Given the description of an element on the screen output the (x, y) to click on. 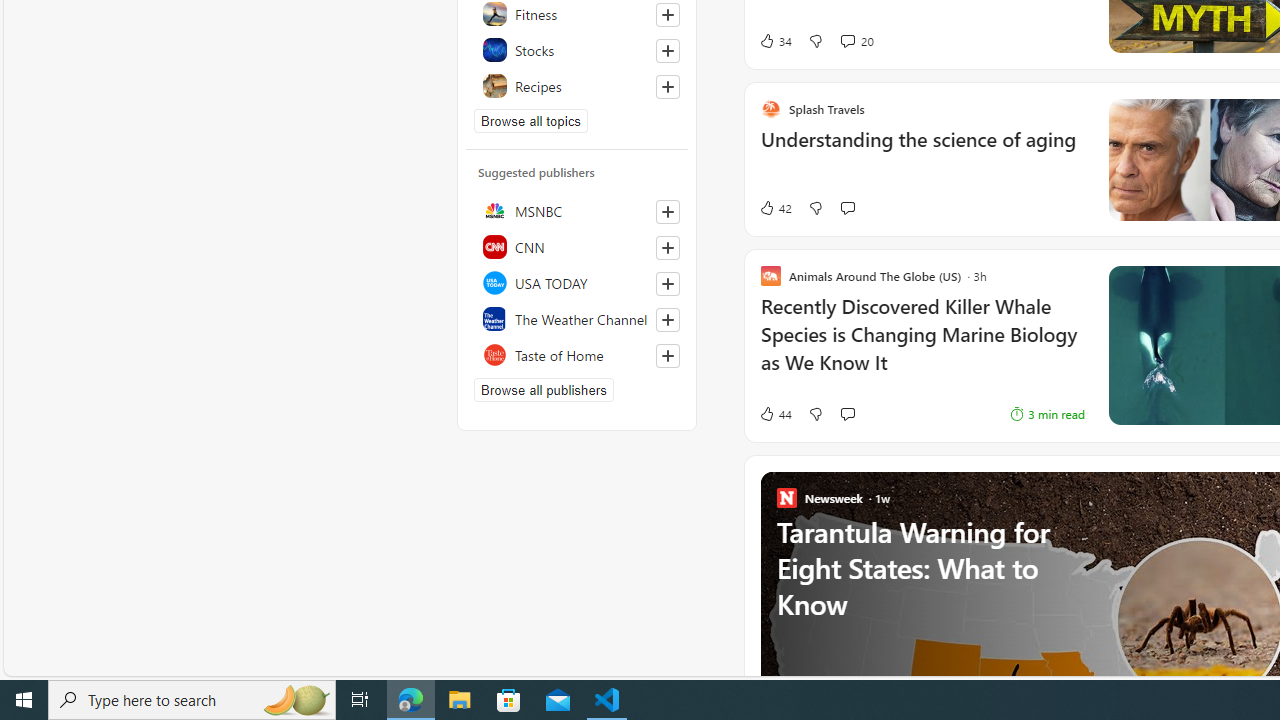
Recipes (577, 85)
View comments 20 Comment (847, 40)
USA TODAY (577, 282)
MSNBC (577, 210)
Taste of Home (577, 354)
42 Like (753, 208)
The Weather Channel (577, 318)
Follow this topic (667, 86)
Stocks (577, 49)
View comments 20 Comment (855, 40)
